Given the description of an element on the screen output the (x, y) to click on. 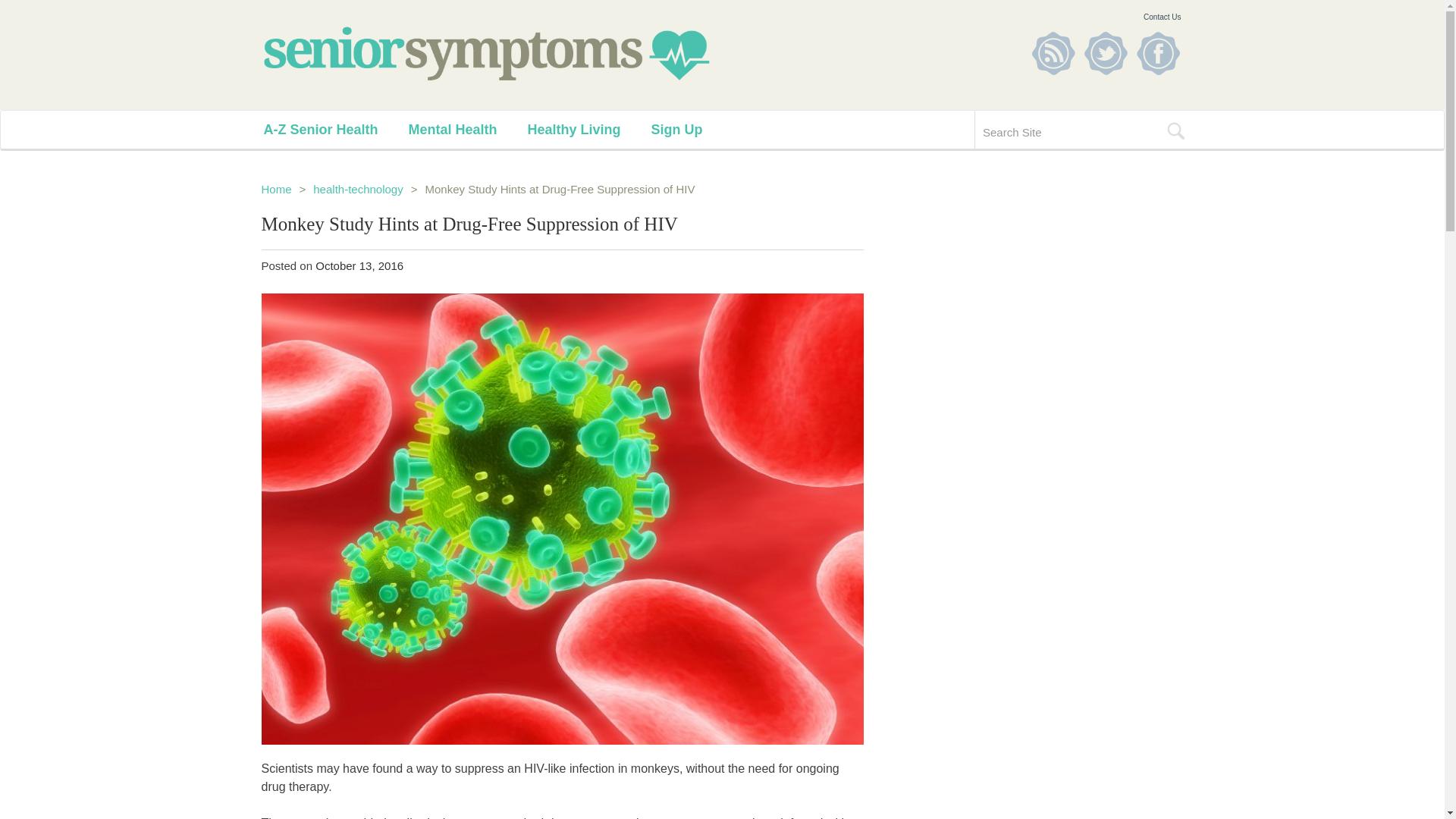
Mental Health (468, 129)
Sign Up (691, 129)
October 13, 2016 (359, 265)
Healthy Living (588, 129)
Twitter (1106, 53)
Facebook (1157, 53)
A-Z Senior Health (336, 129)
health-technology (358, 188)
Home (275, 188)
